Given the description of an element on the screen output the (x, y) to click on. 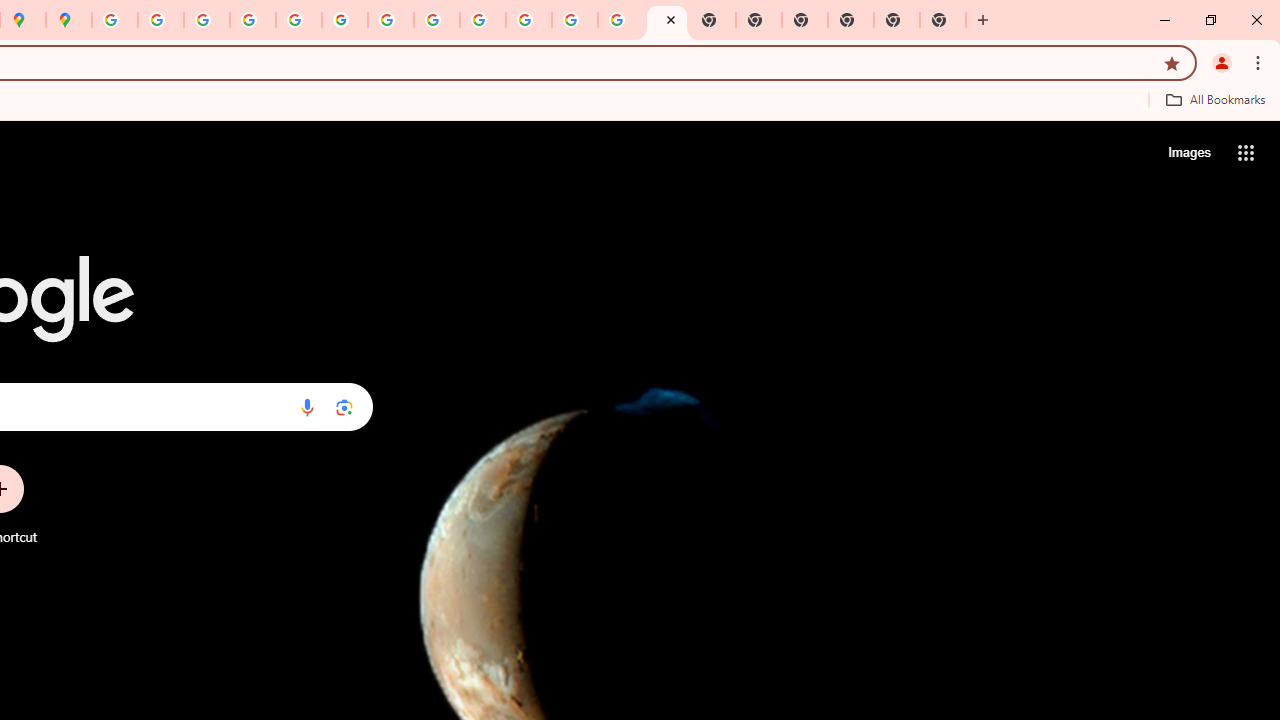
New Tab (805, 20)
New Tab (897, 20)
Privacy Help Center - Policies Help (253, 20)
